Given the description of an element on the screen output the (x, y) to click on. 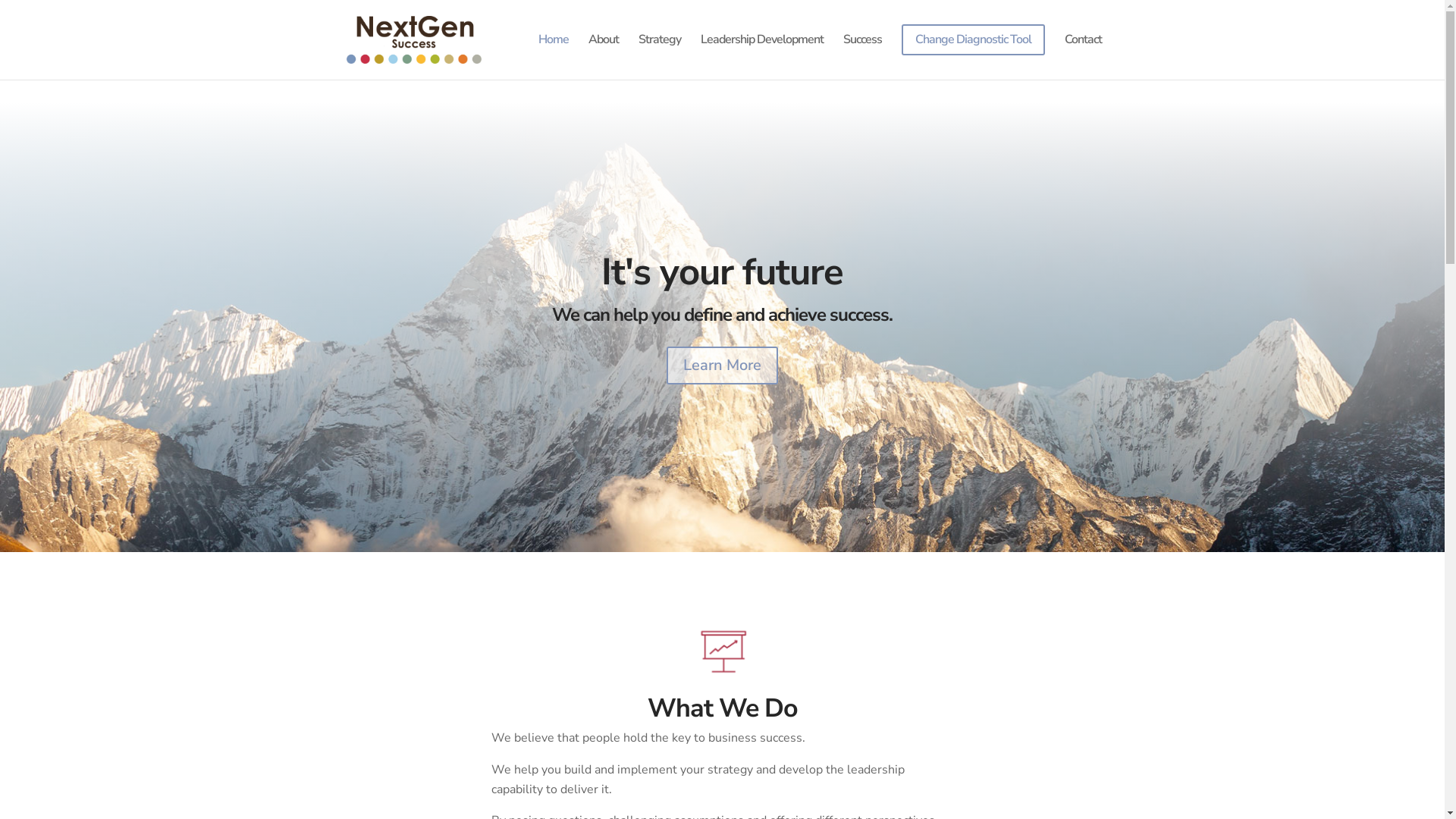
Contact Element type: text (1082, 51)
Change Diagnostic Tool Element type: text (972, 51)
Home Element type: text (553, 51)
Strategy Element type: text (659, 51)
About Element type: text (603, 51)
Leadership Development Element type: text (761, 51)
Learn More Element type: text (722, 365)
Success Element type: text (862, 51)
